Given the description of an element on the screen output the (x, y) to click on. 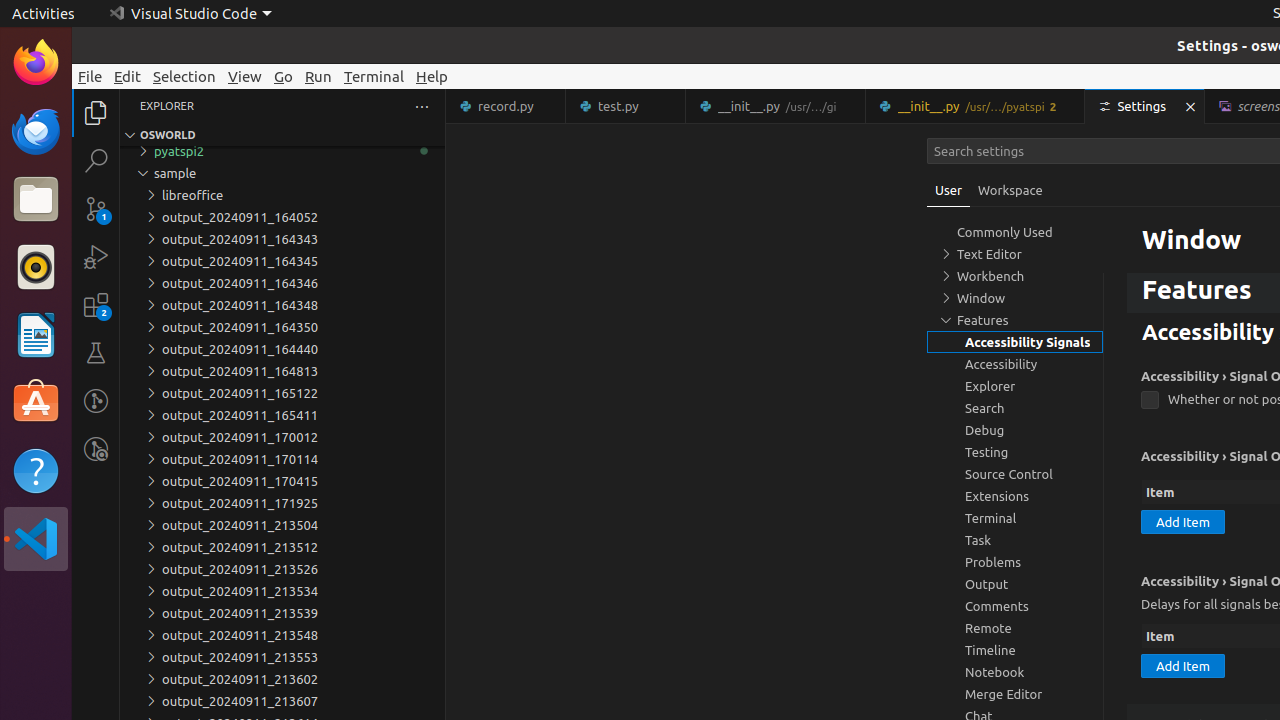
Terminal, group Element type: tree-item (1015, 518)
pyatspi2 Element type: tree-item (282, 151)
Search, group Element type: tree-item (1015, 408)
output_20240911_213539 Element type: tree-item (282, 613)
